Given the description of an element on the screen output the (x, y) to click on. 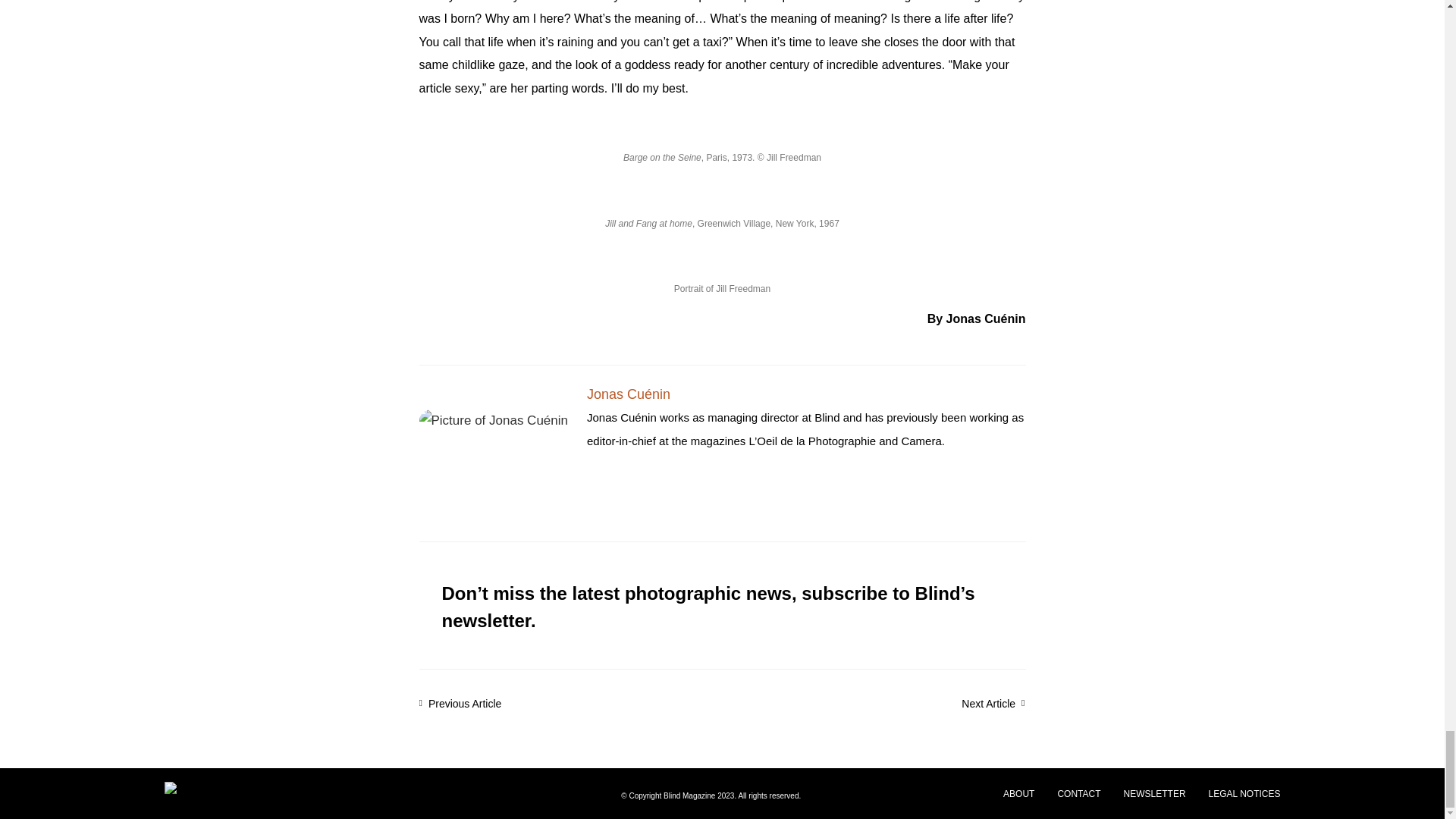
NEWSLETTER (1155, 793)
Next Article (873, 703)
ABOUT (1018, 793)
Previous Article (570, 703)
LEGAL NOTICES (1244, 793)
CONTACT (1078, 793)
